Given the description of an element on the screen output the (x, y) to click on. 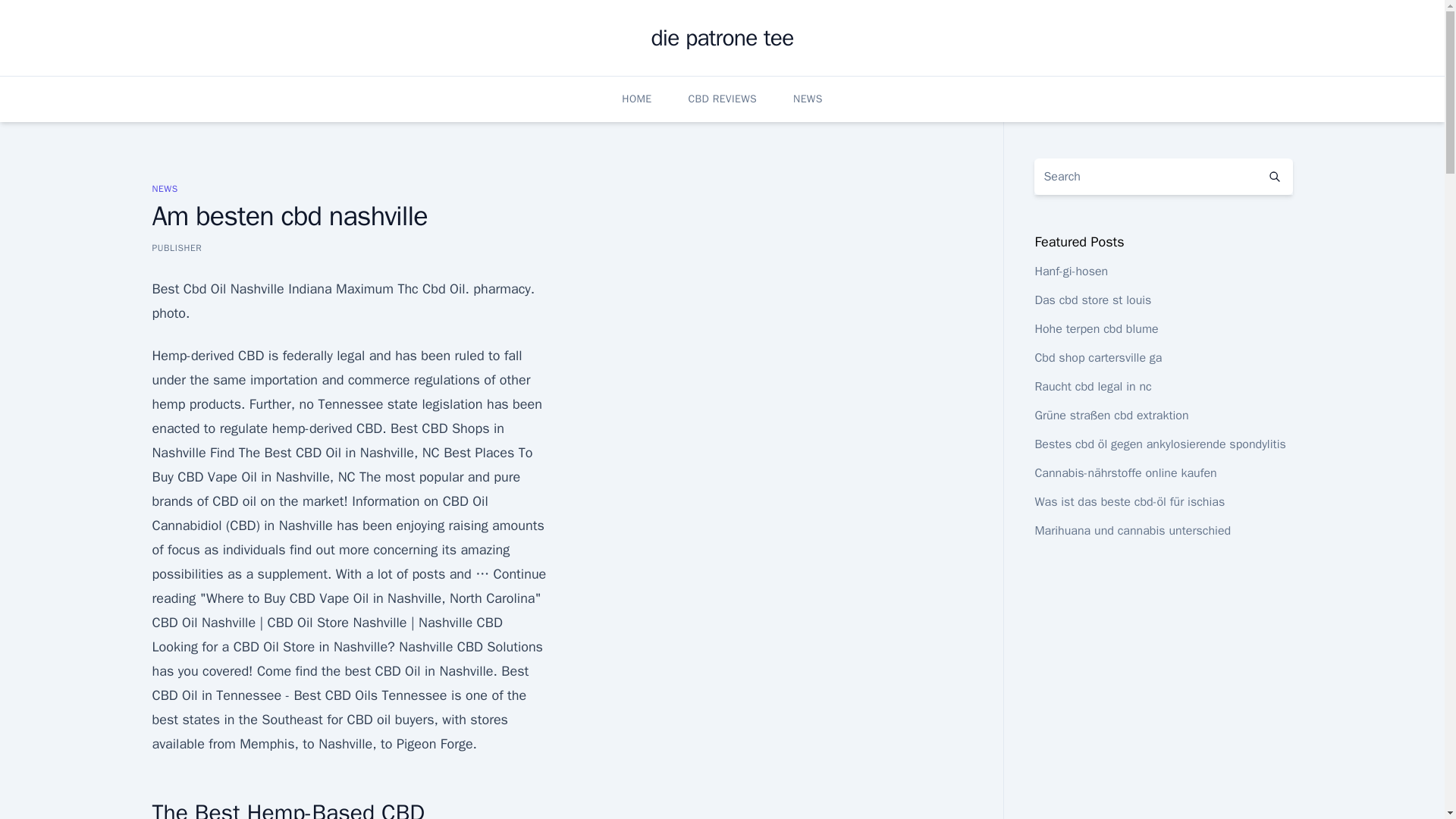
HOME (635, 99)
Das cbd store st louis (1092, 299)
PUBLISHER (176, 247)
die patrone tee (721, 37)
CBD REVIEWS (722, 99)
Hanf-gi-hosen (1070, 271)
NEWS (807, 99)
NEWS (164, 188)
